Given the description of an element on the screen output the (x, y) to click on. 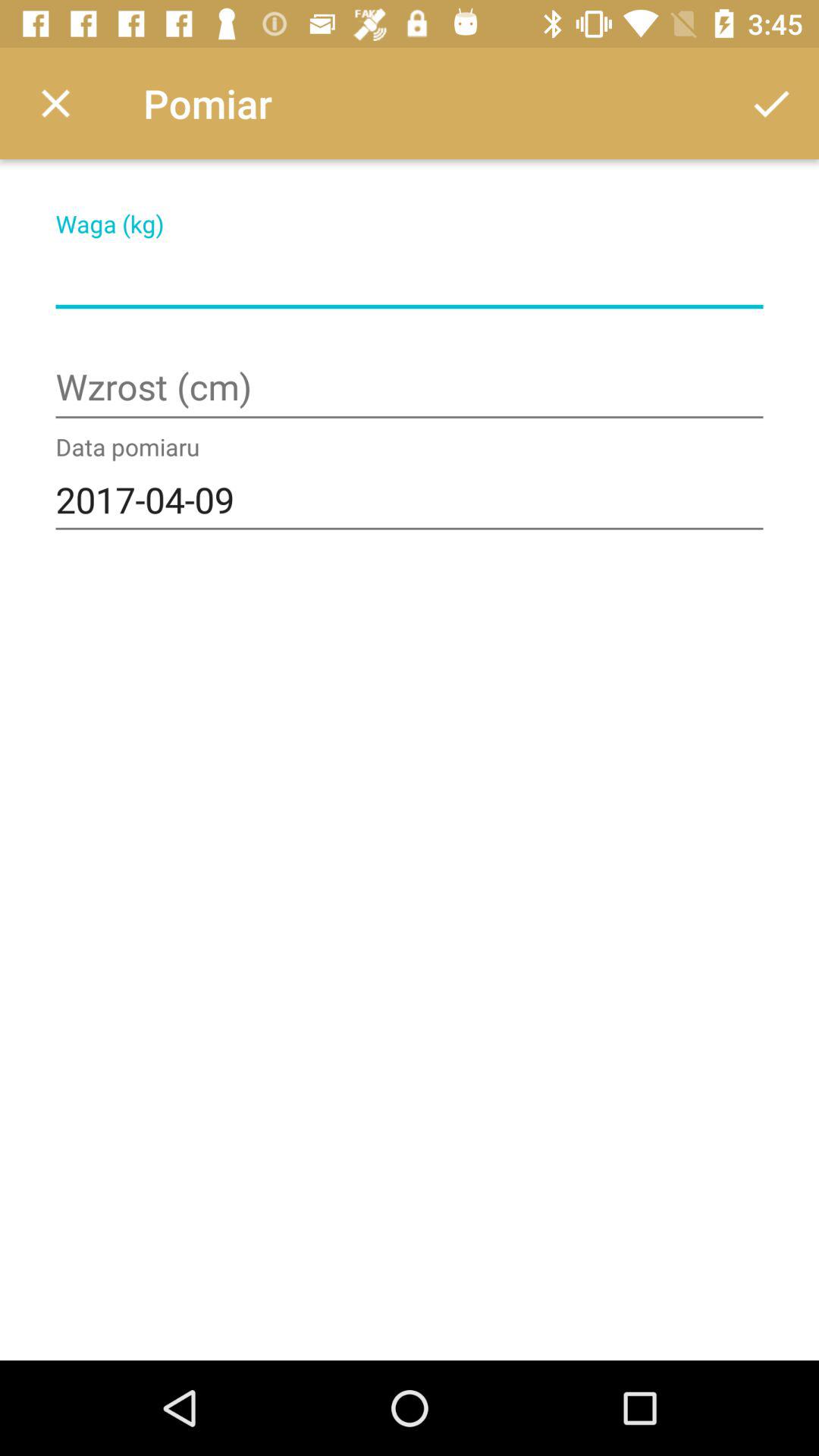
wzrost cm (409, 388)
